Given the description of an element on the screen output the (x, y) to click on. 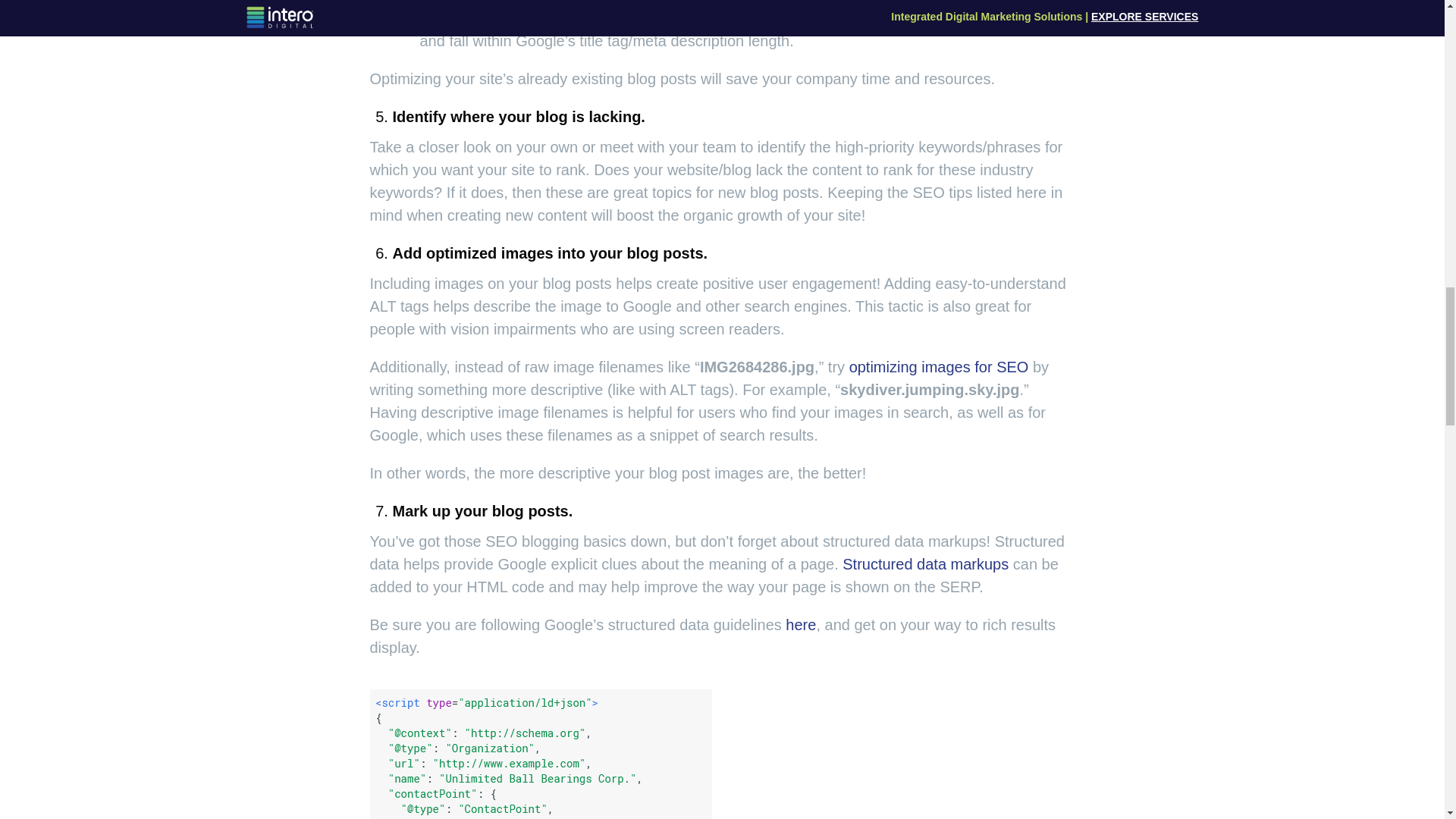
here (800, 624)
Structured data markups (926, 564)
optimizing images for SEO (938, 366)
